Given the description of an element on the screen output the (x, y) to click on. 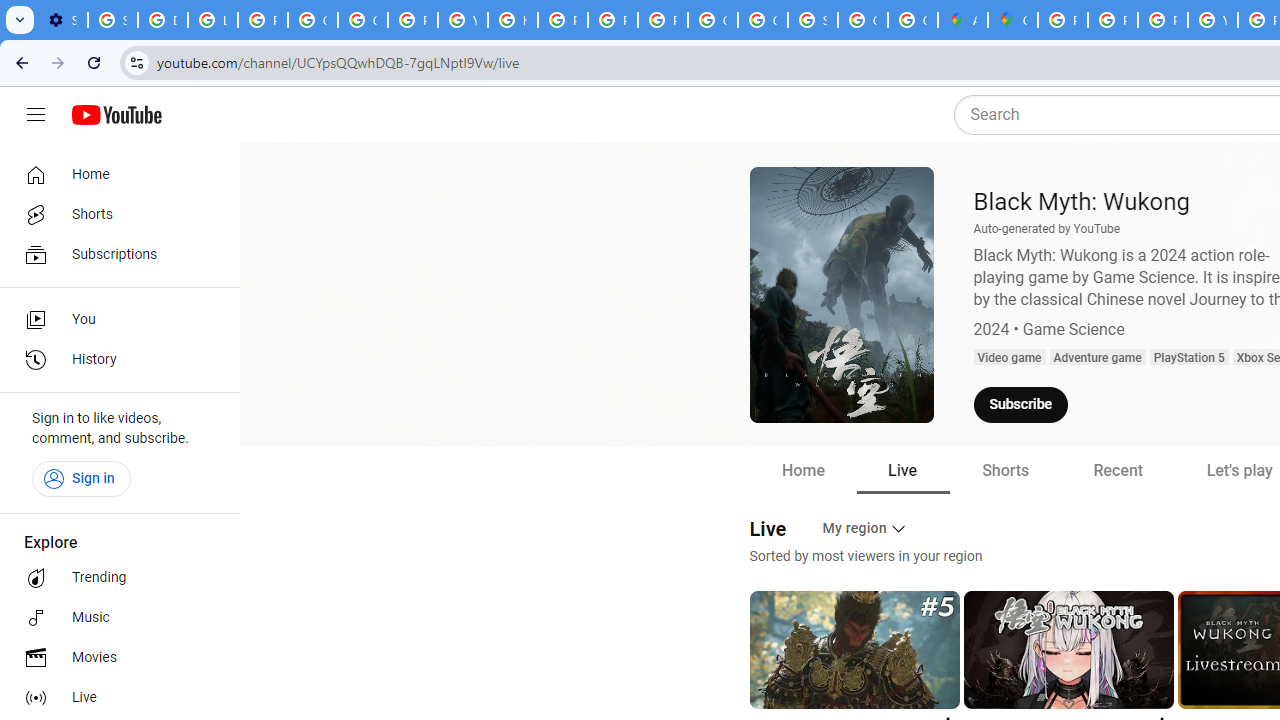
Sign in - Google Accounts (113, 20)
Recent (1117, 470)
Settings - On startup (62, 20)
Subscribe (1020, 405)
Trending (113, 578)
Privacy Help Center - Policies Help (562, 20)
Movies (113, 657)
Sign in - Google Accounts (813, 20)
Policy Accountability and Transparency - Transparency Center (1062, 20)
